Given the description of an element on the screen output the (x, y) to click on. 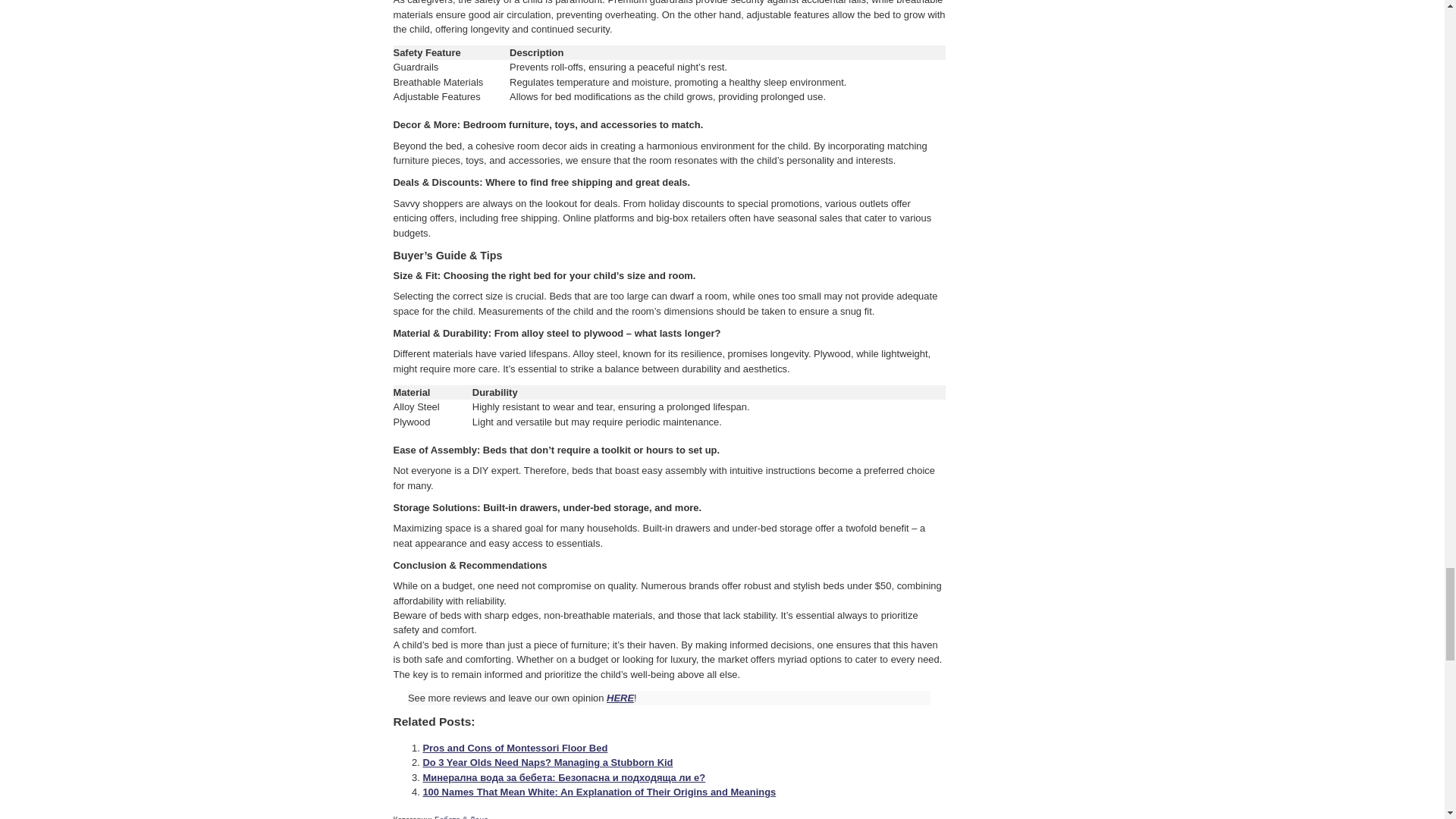
Do 3 Year Olds Need Naps? Managing a Stubborn Kid (547, 762)
Pros and Cons of Montessori Floor Bed (514, 747)
HERE (620, 697)
Pros and Cons of Montessori Floor Bed (514, 747)
Do 3 Year Olds Need Naps? Managing a Stubborn Kid (547, 762)
